Given the description of an element on the screen output the (x, y) to click on. 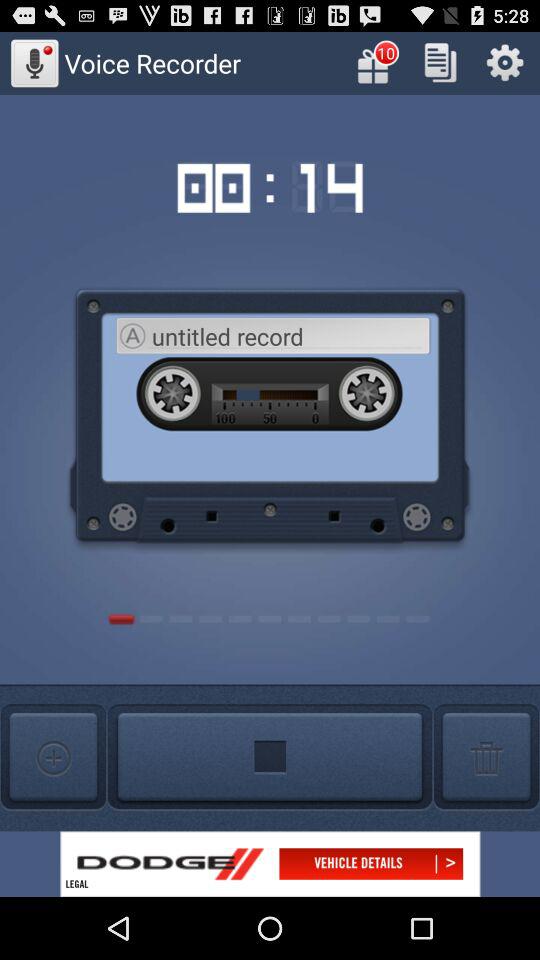
app advertisement (270, 864)
